Given the description of an element on the screen output the (x, y) to click on. 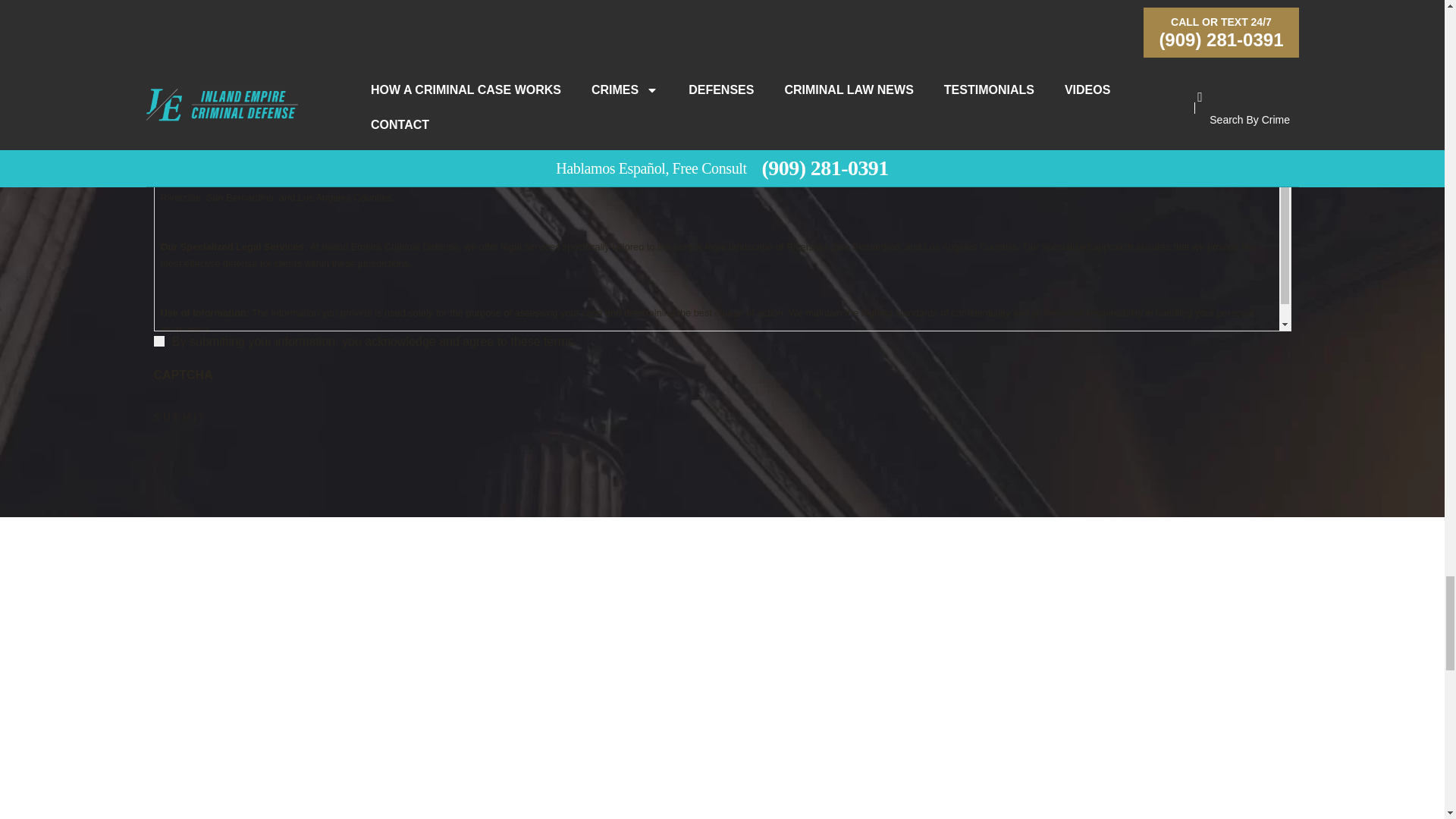
Submit (179, 416)
1 (157, 340)
